Given the description of an element on the screen output the (x, y) to click on. 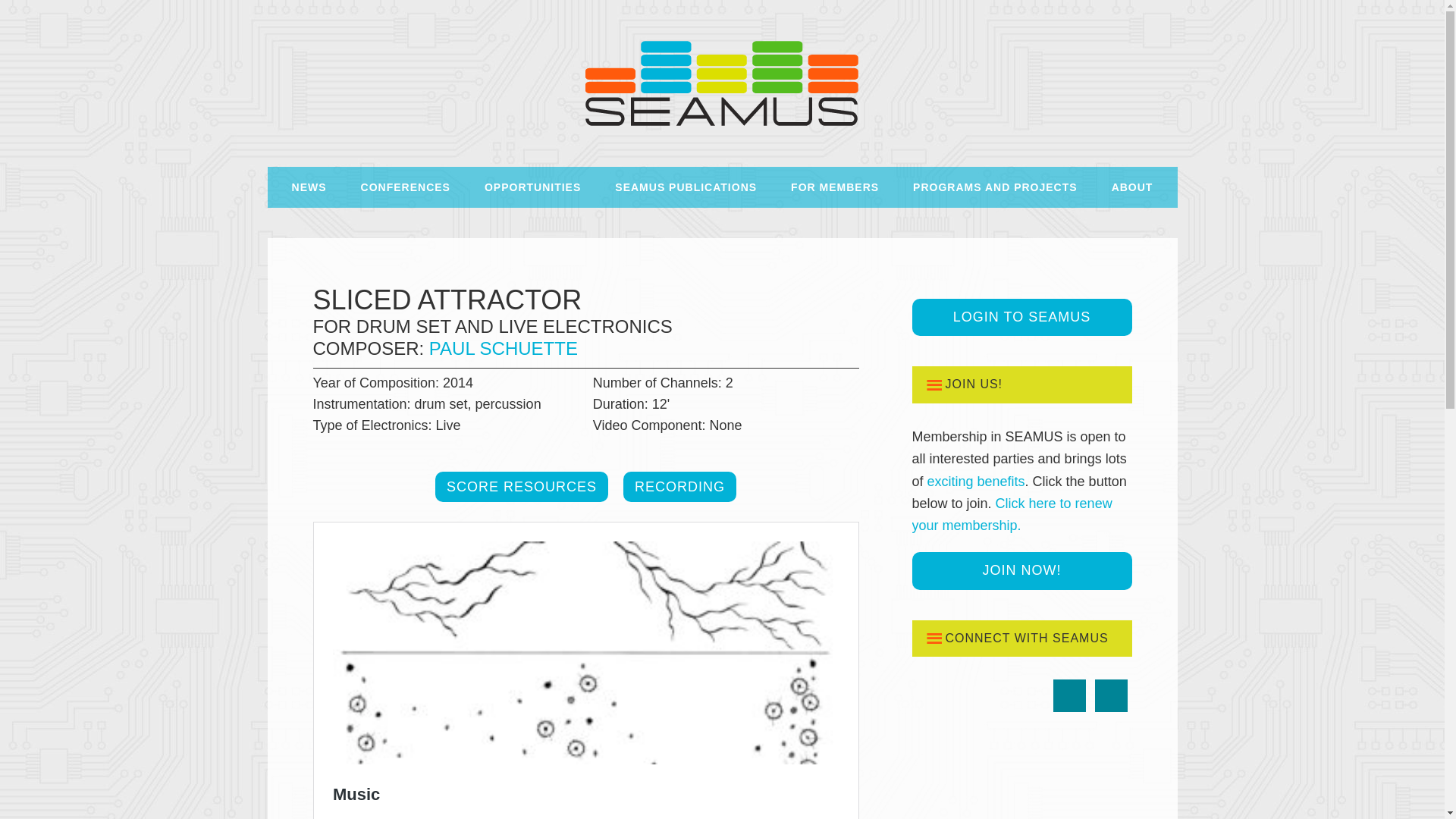
SEAMUS Login (1021, 316)
Why Join SEAMUS? (976, 481)
ABOUT (1132, 187)
PROGRAMS AND PROJECTS (995, 187)
NEWS (309, 187)
SEAMUS PUBLICATIONS (685, 187)
CONFERENCES (405, 187)
OPPORTUNITIES (531, 187)
FOR MEMBERS (834, 187)
SEAMUS (721, 83)
